Given the description of an element on the screen output the (x, y) to click on. 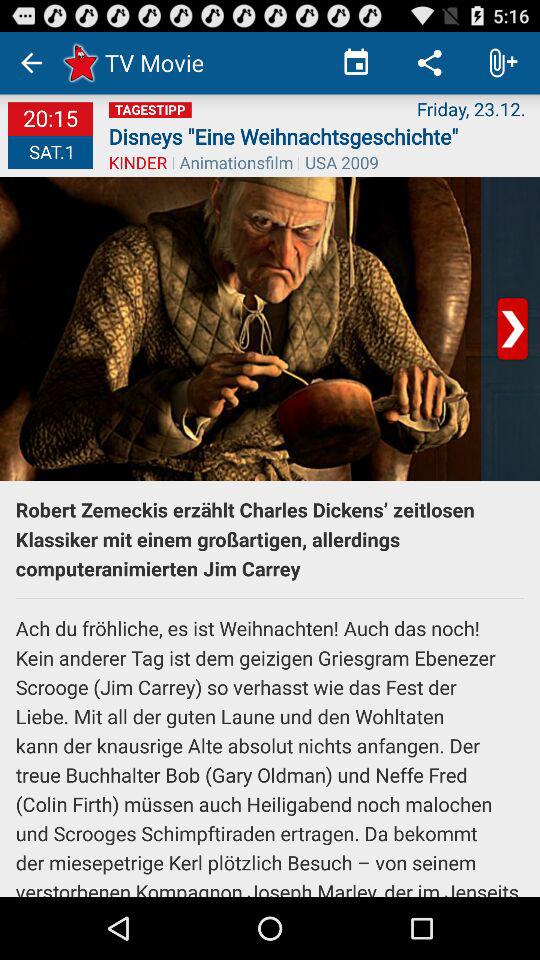
select the app next to tv movie item (356, 62)
